Given the description of an element on the screen output the (x, y) to click on. 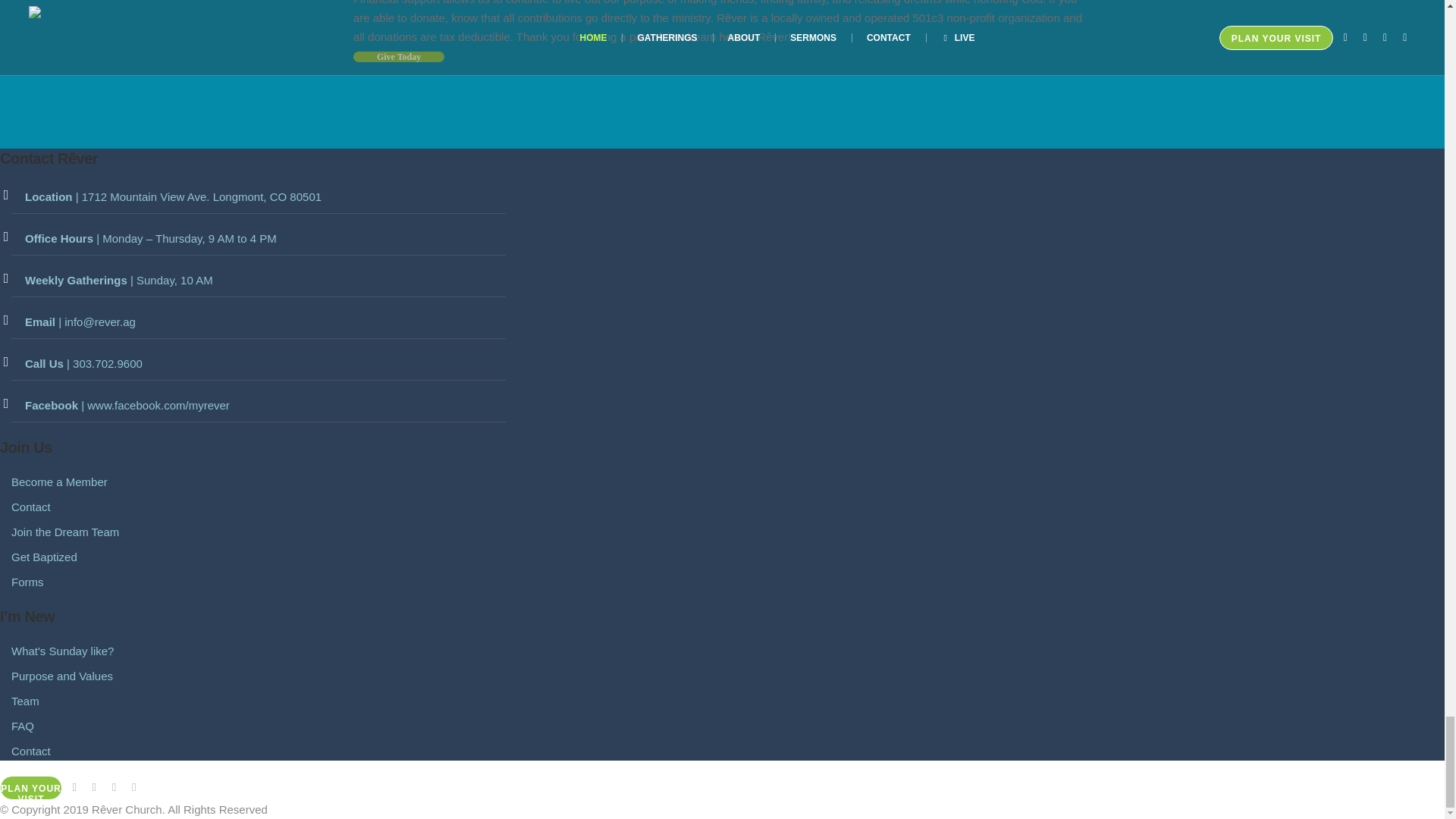
Instagram (93, 787)
PLAN YOUR VISIT (31, 787)
Twitter (114, 787)
rss (133, 787)
Facebook (73, 787)
